Given the description of an element on the screen output the (x, y) to click on. 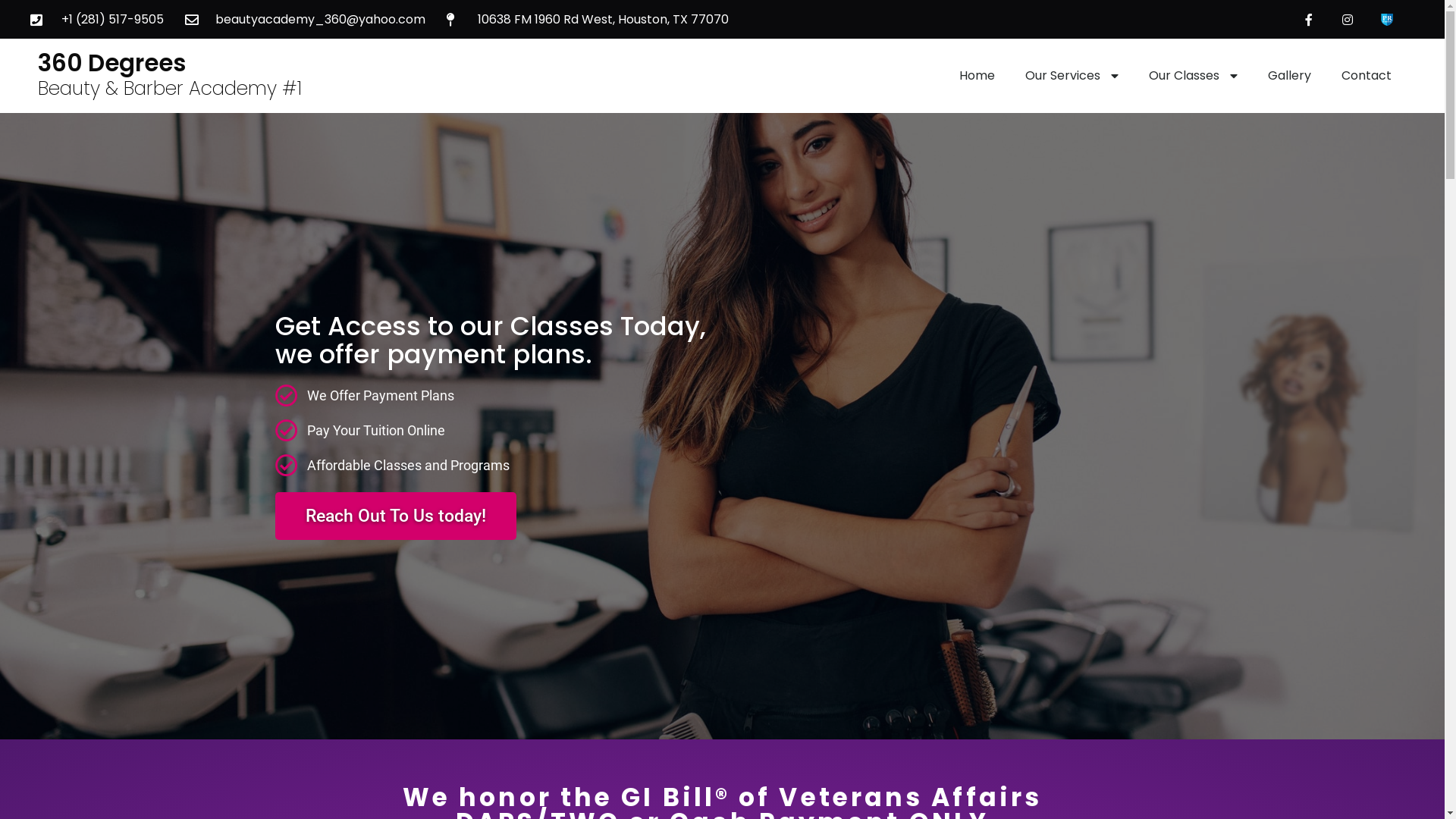
Gallery Element type: text (1289, 75)
Reach Out To Us today! Element type: text (394, 515)
10638 FM 1960 Rd West, Houston, TX 77070 Element type: text (587, 19)
beautyacademy_360@yahoo.com Element type: text (305, 19)
Our Services
  Element type: text (1071, 75)
Our Classes
  Element type: text (1192, 75)
Contact Element type: text (1366, 75)
+1 (281) 517-9505 Element type: text (96, 19)
Home Element type: text (977, 75)
